Given the description of an element on the screen output the (x, y) to click on. 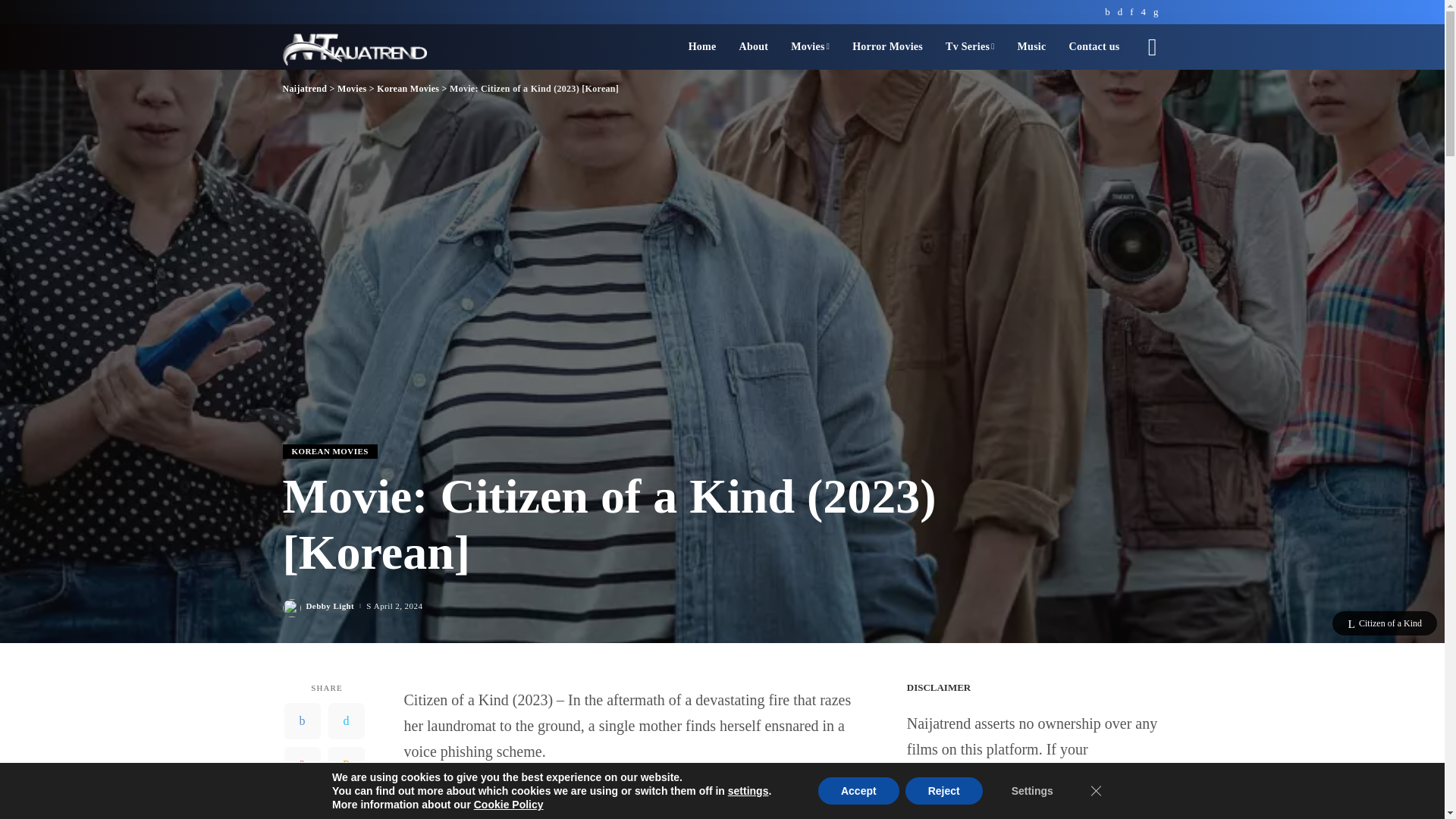
Go to the Movies Category archives. (351, 88)
Go to Naijatrend. (304, 88)
Naijatrend (354, 46)
